Given the description of an element on the screen output the (x, y) to click on. 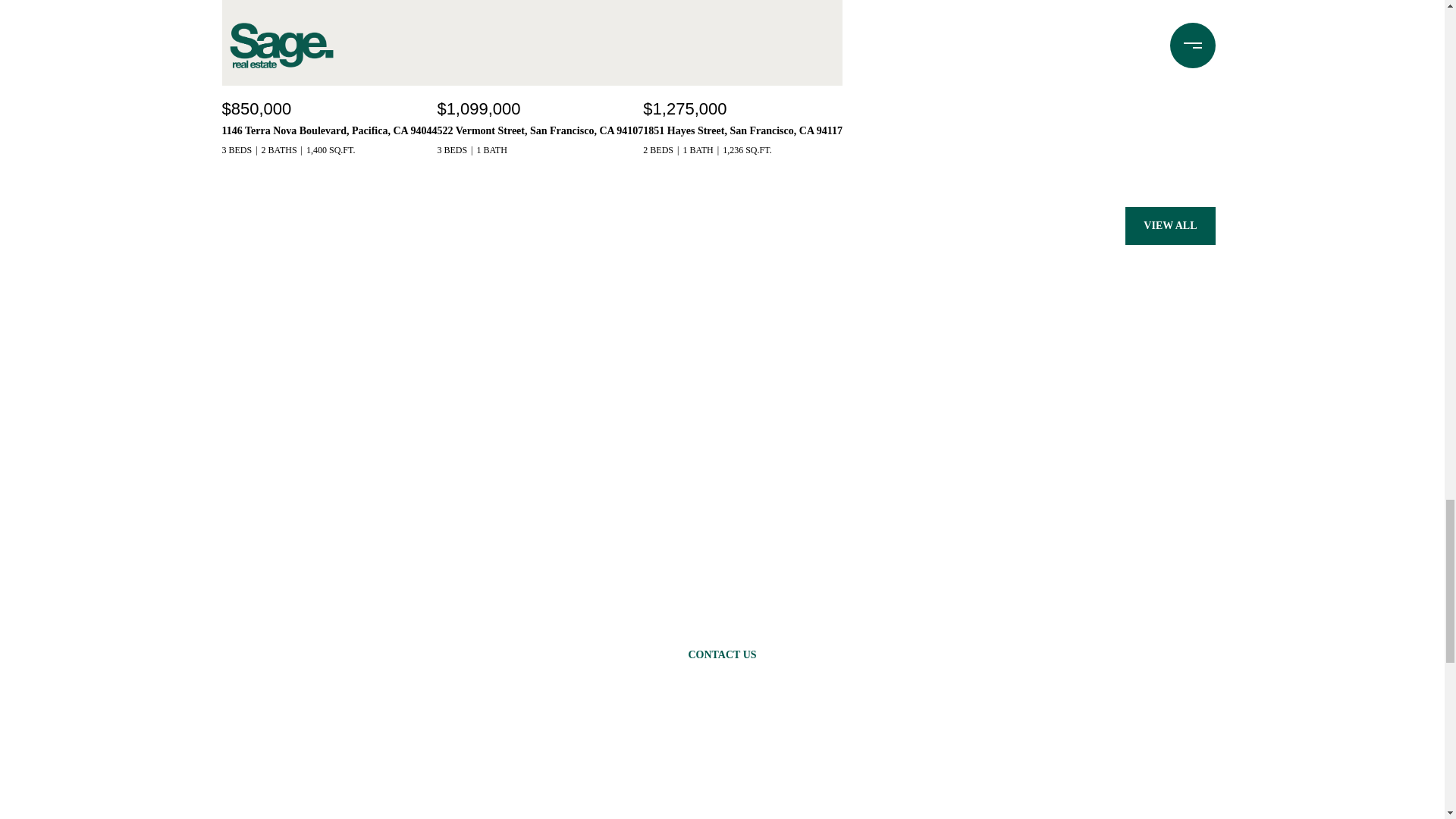
CONTACT US (721, 655)
VIEW ALL (1169, 225)
